Given the description of an element on the screen output the (x, y) to click on. 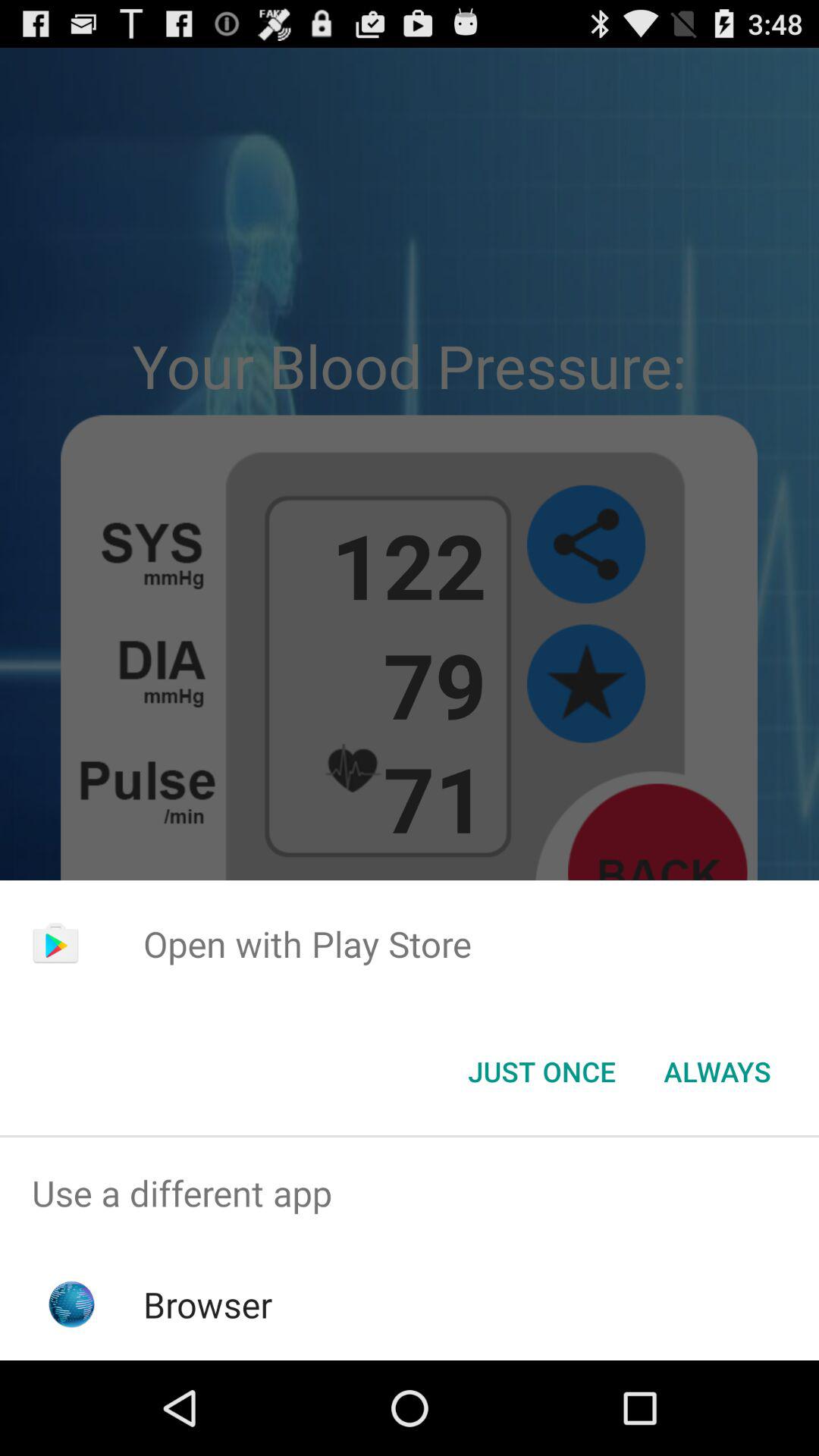
jump until always item (717, 1071)
